Given the description of an element on the screen output the (x, y) to click on. 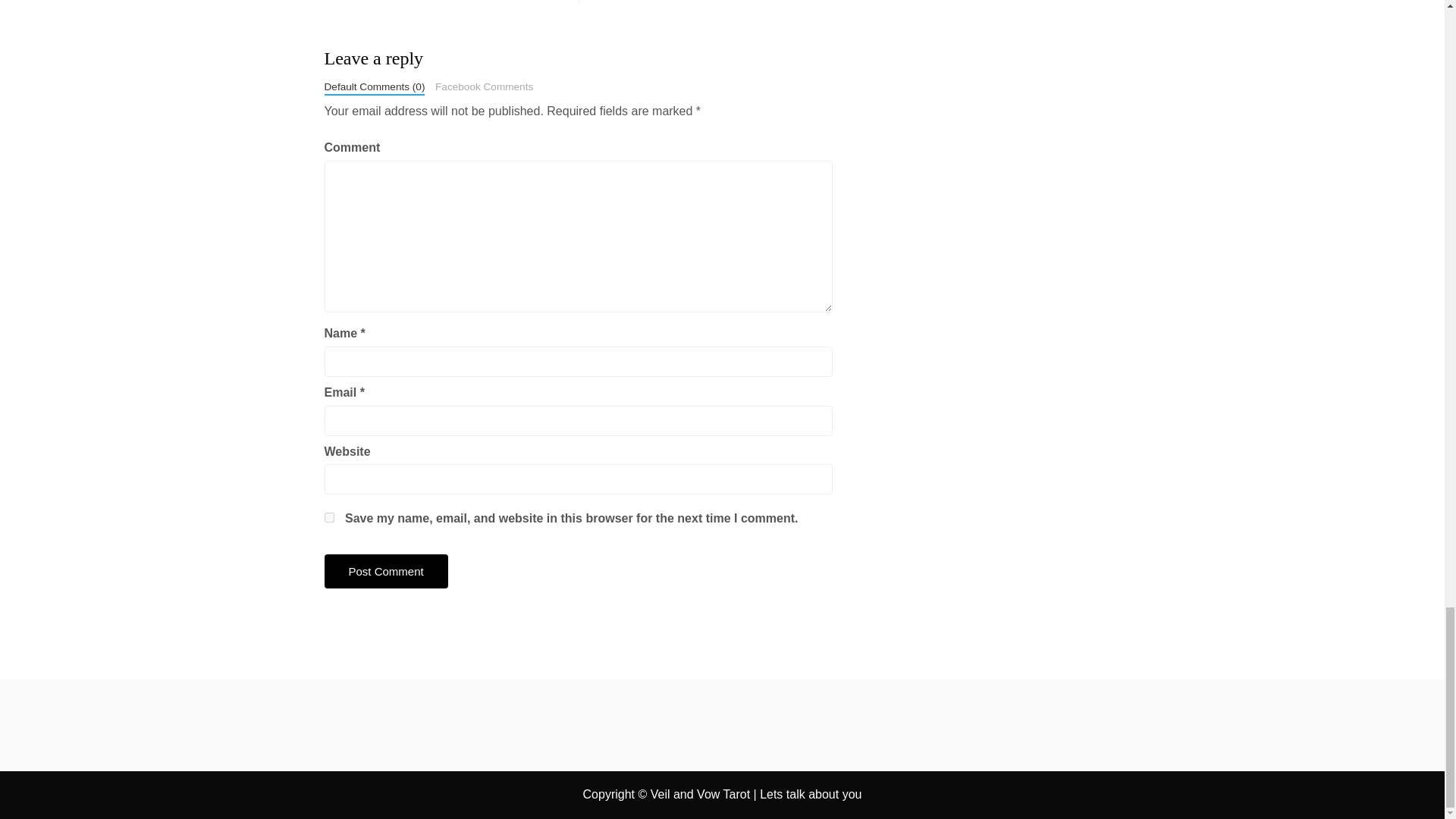
Post Comment (386, 571)
yes (329, 517)
